Given the description of an element on the screen output the (x, y) to click on. 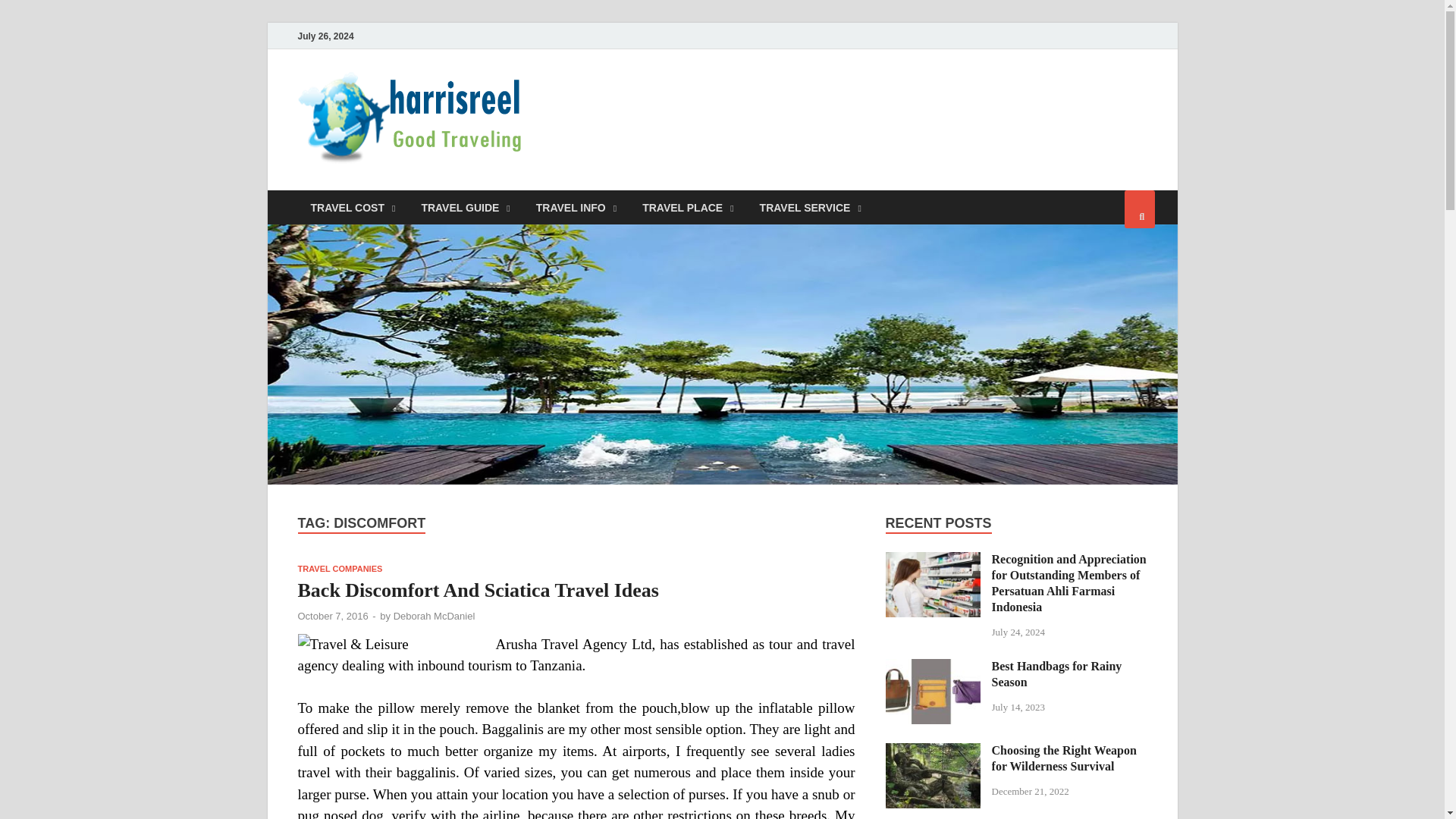
Best Handbags for Rainy Season (932, 667)
TRAVEL GUIDE (464, 207)
Choosing the Right Weapon for Wilderness Survival (932, 751)
harrisreel (599, 100)
TRAVEL SERVICE (810, 207)
TRAVEL COST (352, 207)
TRAVEL INFO (575, 207)
TRAVEL PLACE (686, 207)
